Given the description of an element on the screen output the (x, y) to click on. 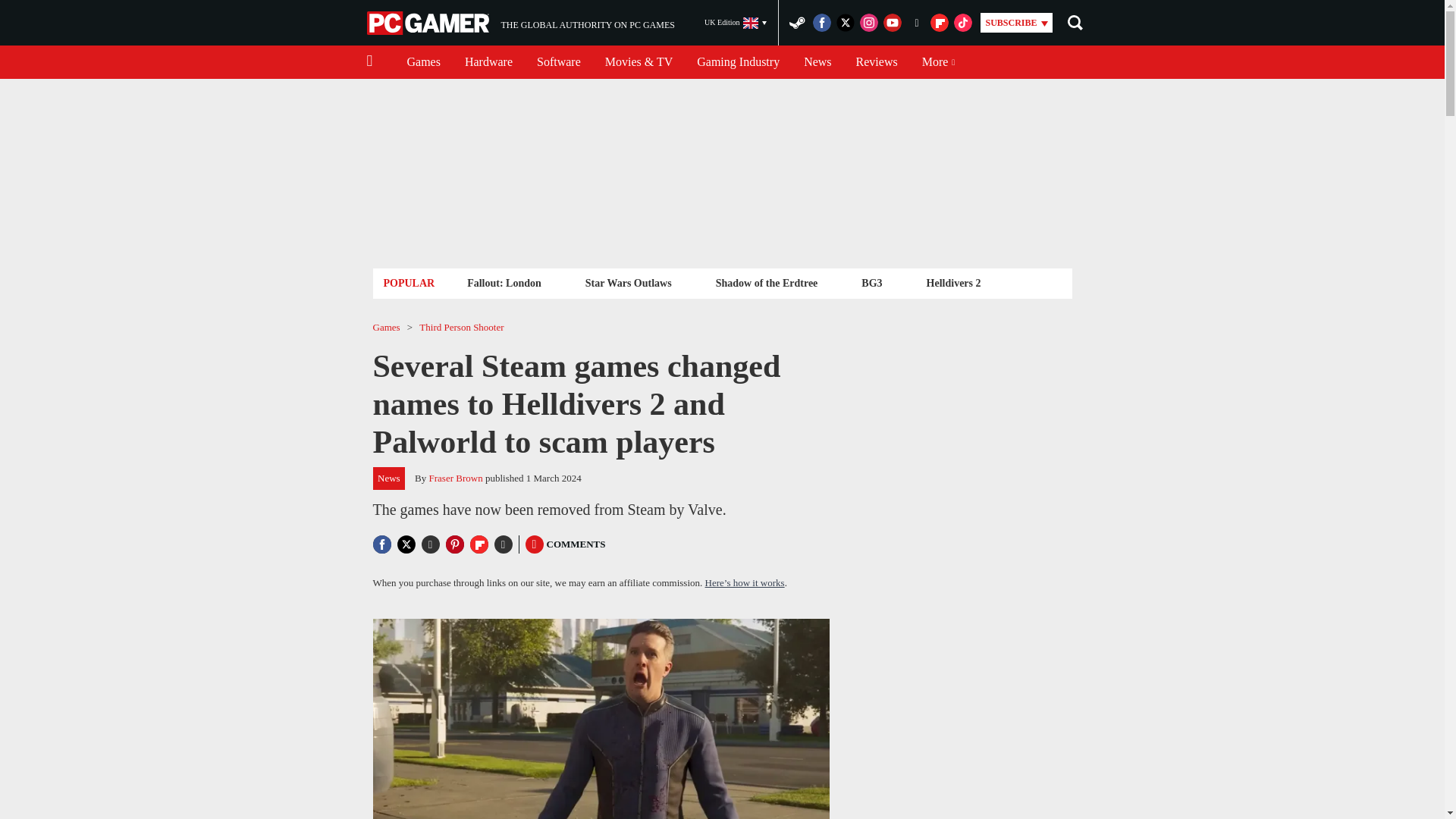
News (817, 61)
Star Wars Outlaws (520, 22)
Games (628, 282)
Hardware (422, 61)
UK Edition (488, 61)
Reviews (735, 22)
Fallout: London (877, 61)
PC Gamer (504, 282)
Gaming Industry (429, 22)
